Given the description of an element on the screen output the (x, y) to click on. 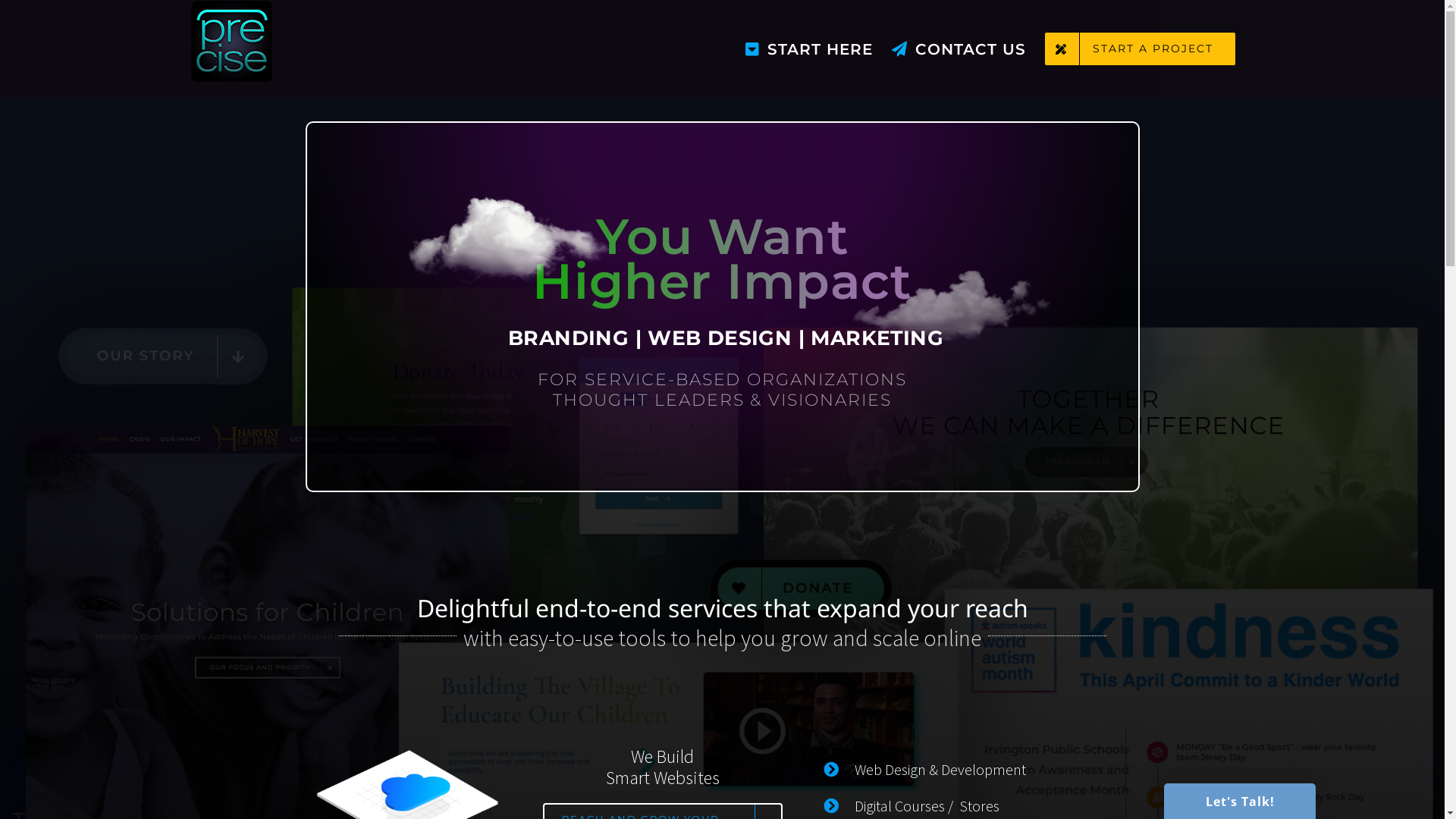
START HERE Element type: text (808, 48)
START A PROJECT Element type: text (1139, 48)
CONTACT US Element type: text (958, 48)
